Given the description of an element on the screen output the (x, y) to click on. 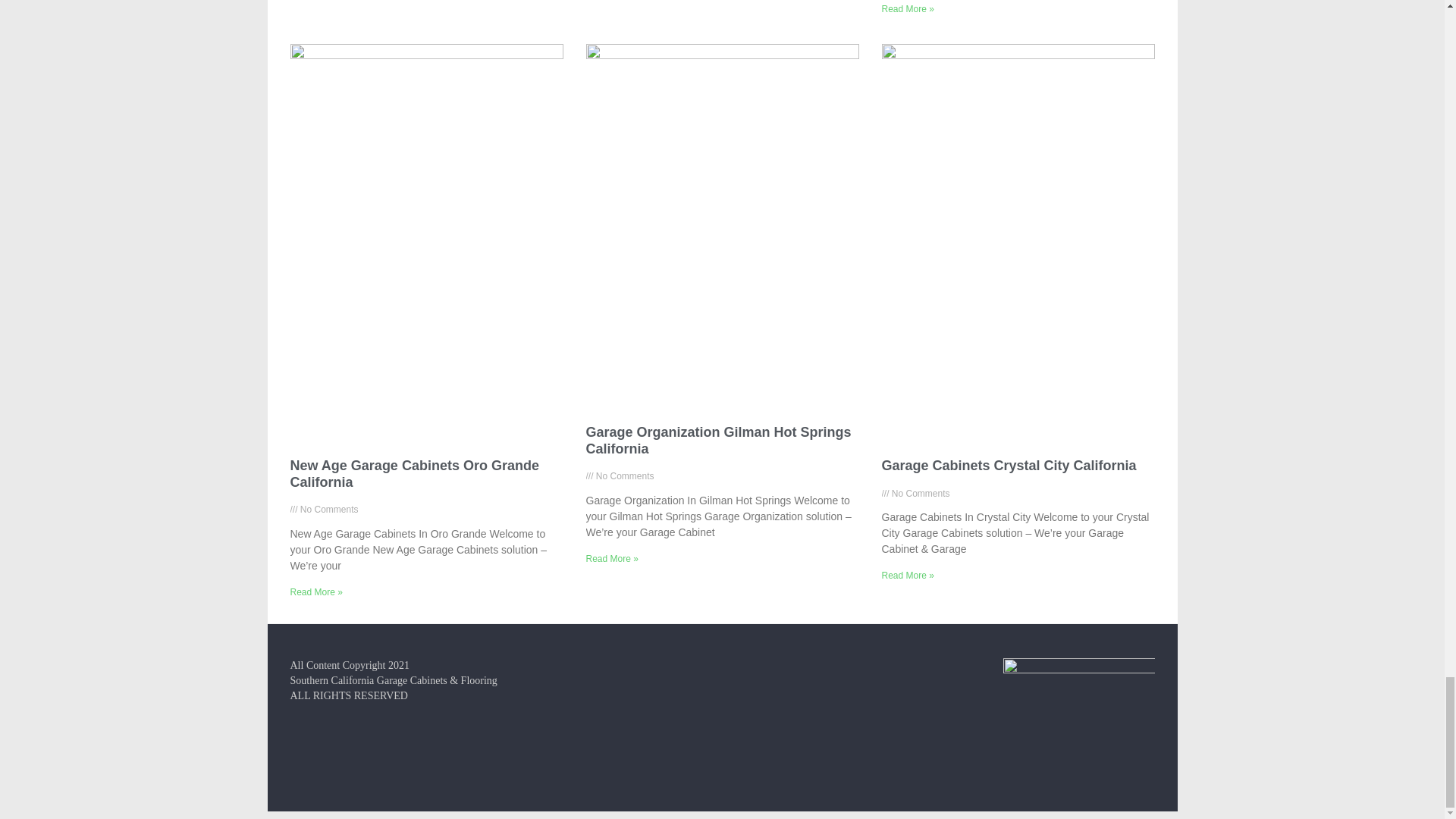
New Age Garage Cabinets Oro Grande California (413, 473)
Garage Cabinets Crystal City California (1007, 465)
Garage Organization Gilman Hot Springs California (717, 440)
